Given the description of an element on the screen output the (x, y) to click on. 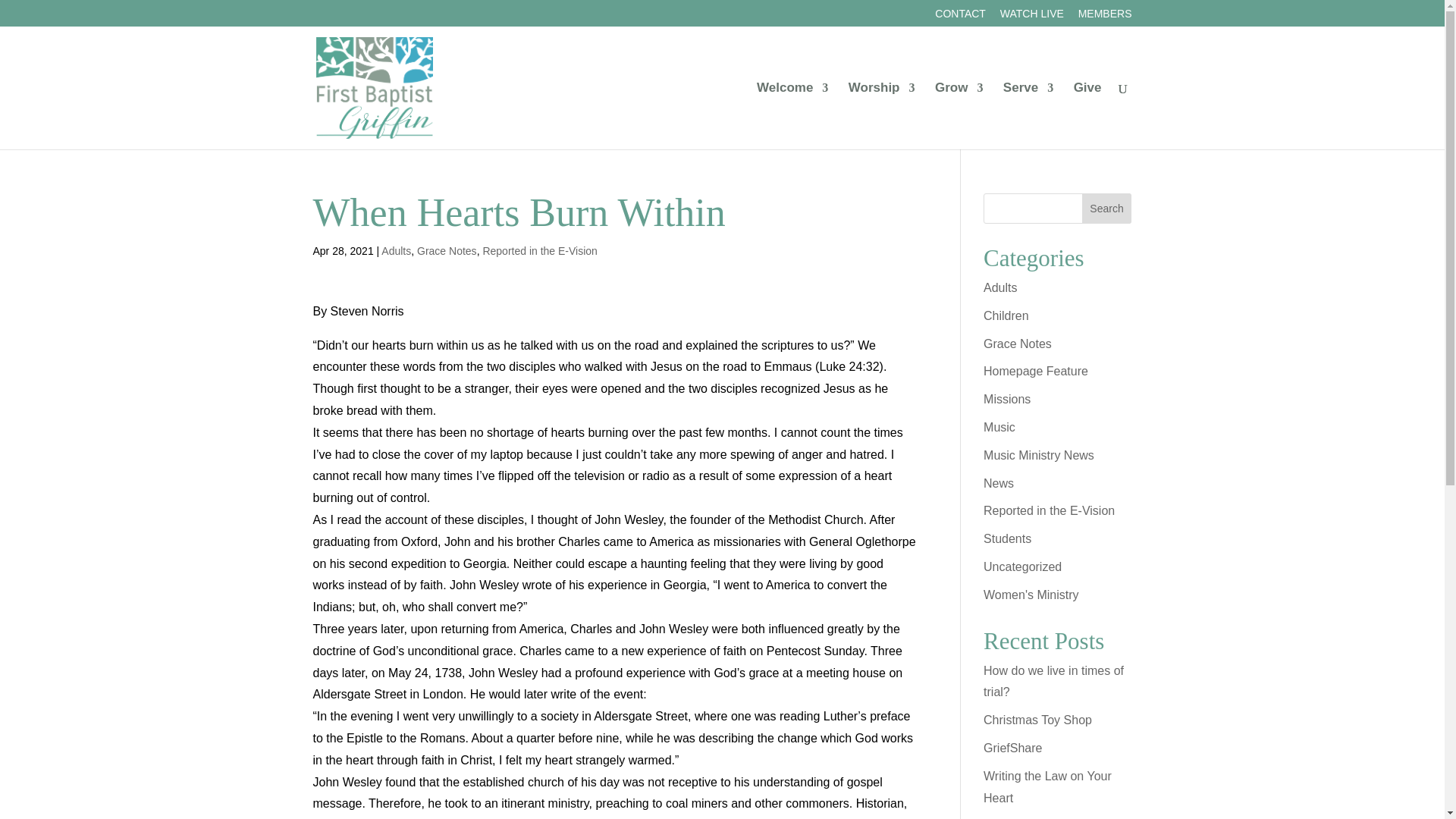
Worship (881, 115)
Welcome (792, 115)
MEMBERS (1105, 16)
CONTACT (959, 16)
Search (1106, 208)
WATCH LIVE (1032, 16)
